Given the description of an element on the screen output the (x, y) to click on. 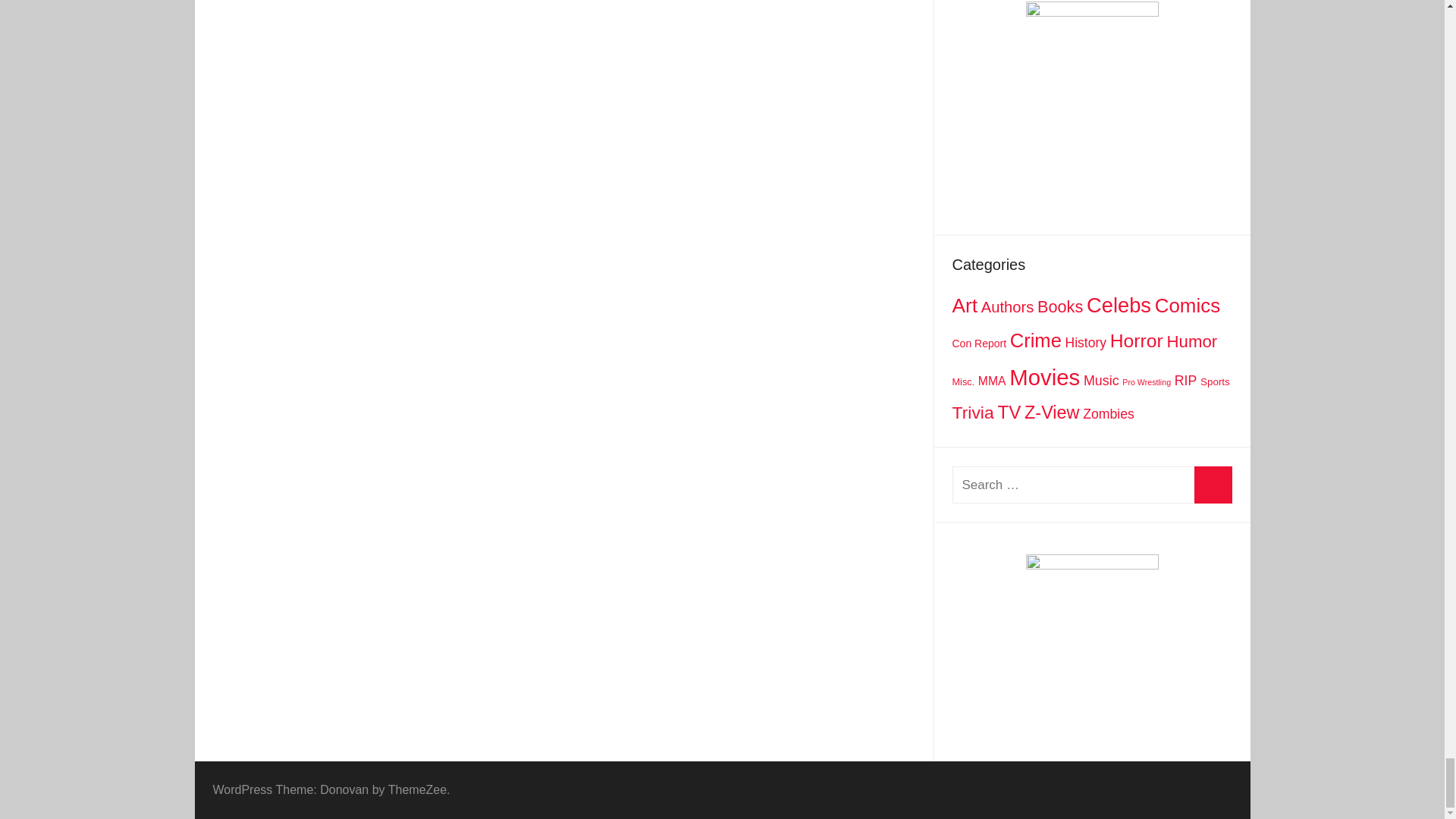
Search for: (1091, 484)
